Given the description of an element on the screen output the (x, y) to click on. 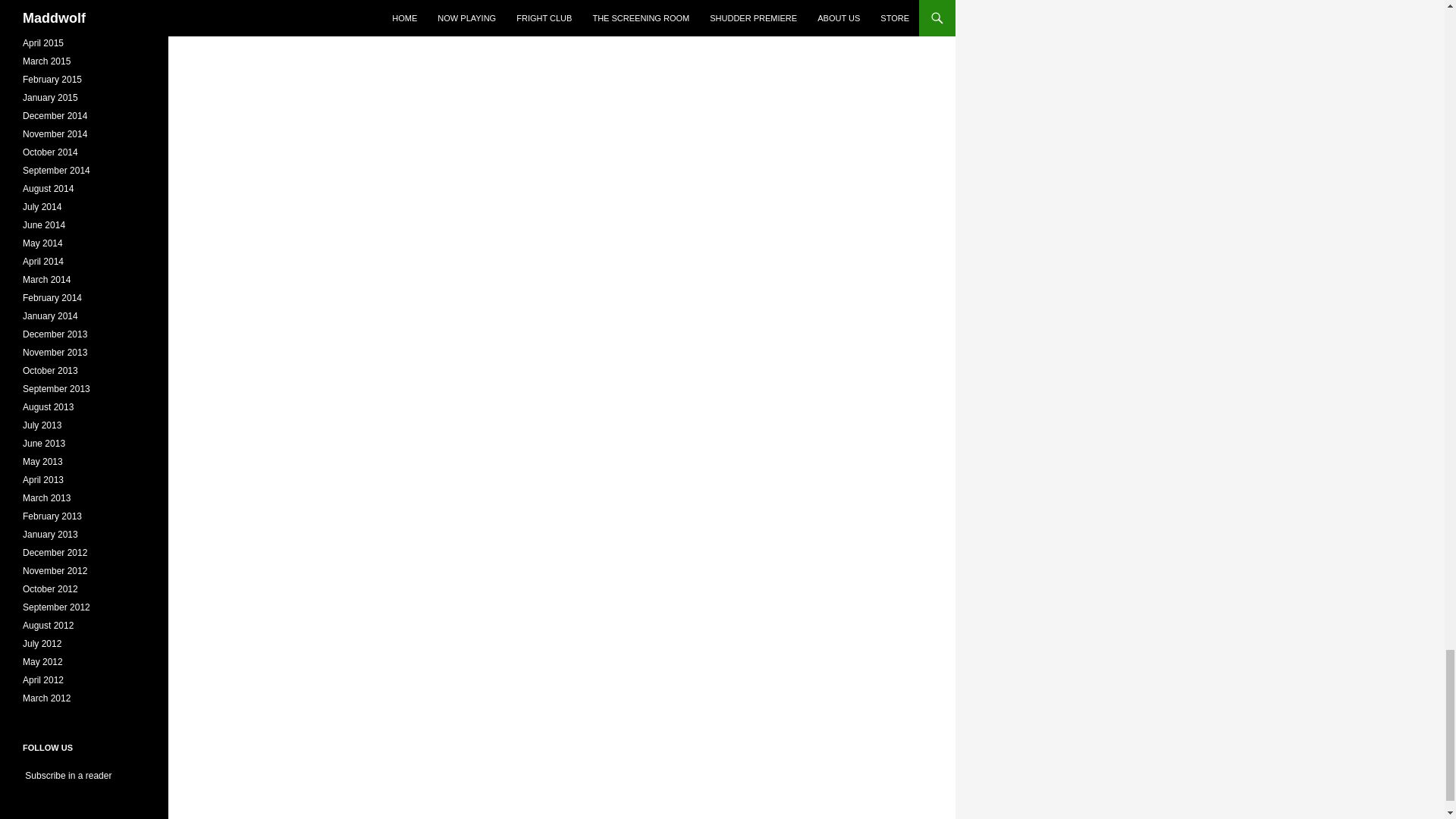
Subscribe to my feed (67, 775)
